Given the description of an element on the screen output the (x, y) to click on. 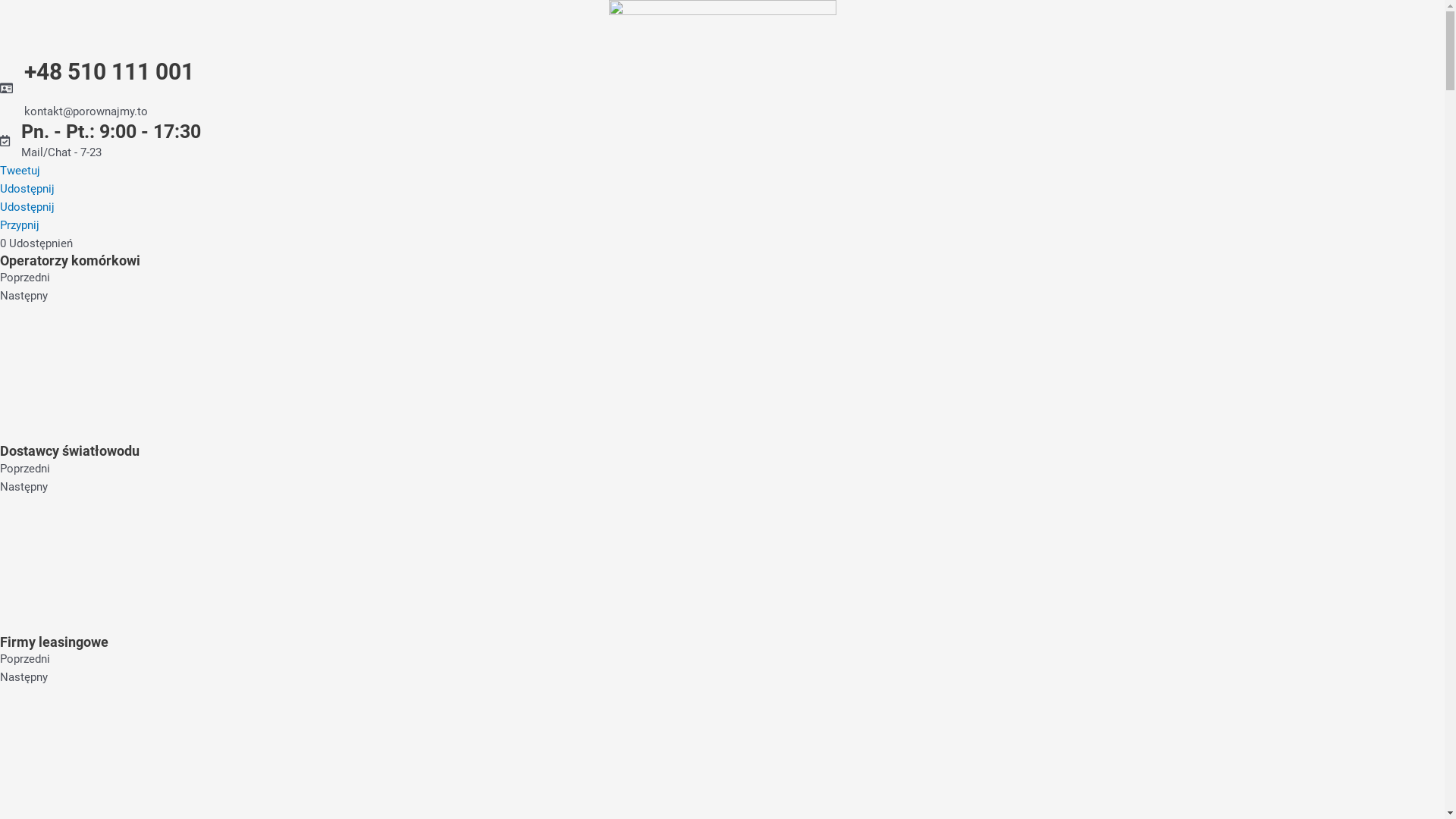
Przypnij Element type: text (19, 225)
Tweetuj Element type: text (20, 170)
